Given the description of an element on the screen output the (x, y) to click on. 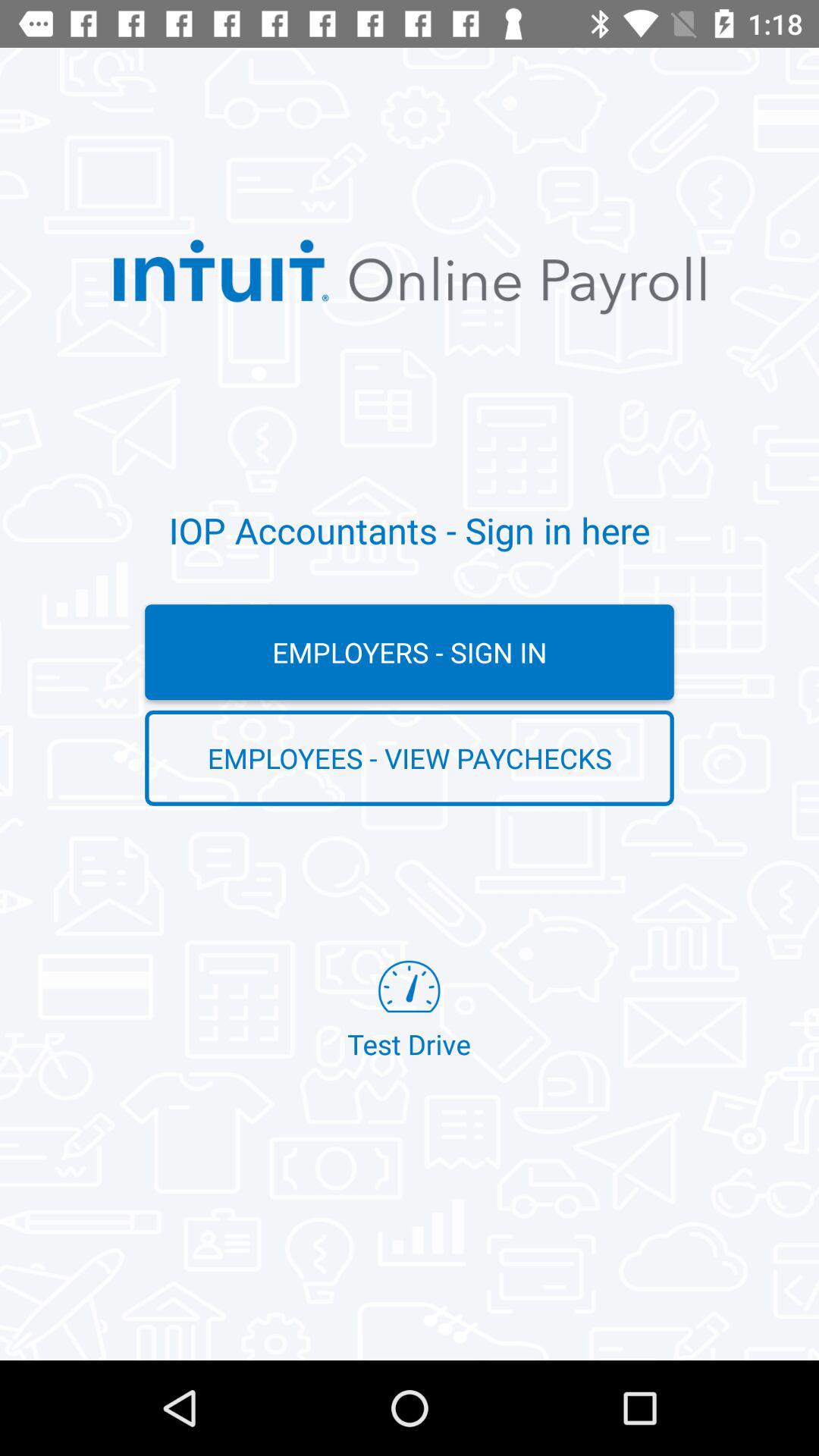
turn on employees - view paychecks item (409, 757)
